Given the description of an element on the screen output the (x, y) to click on. 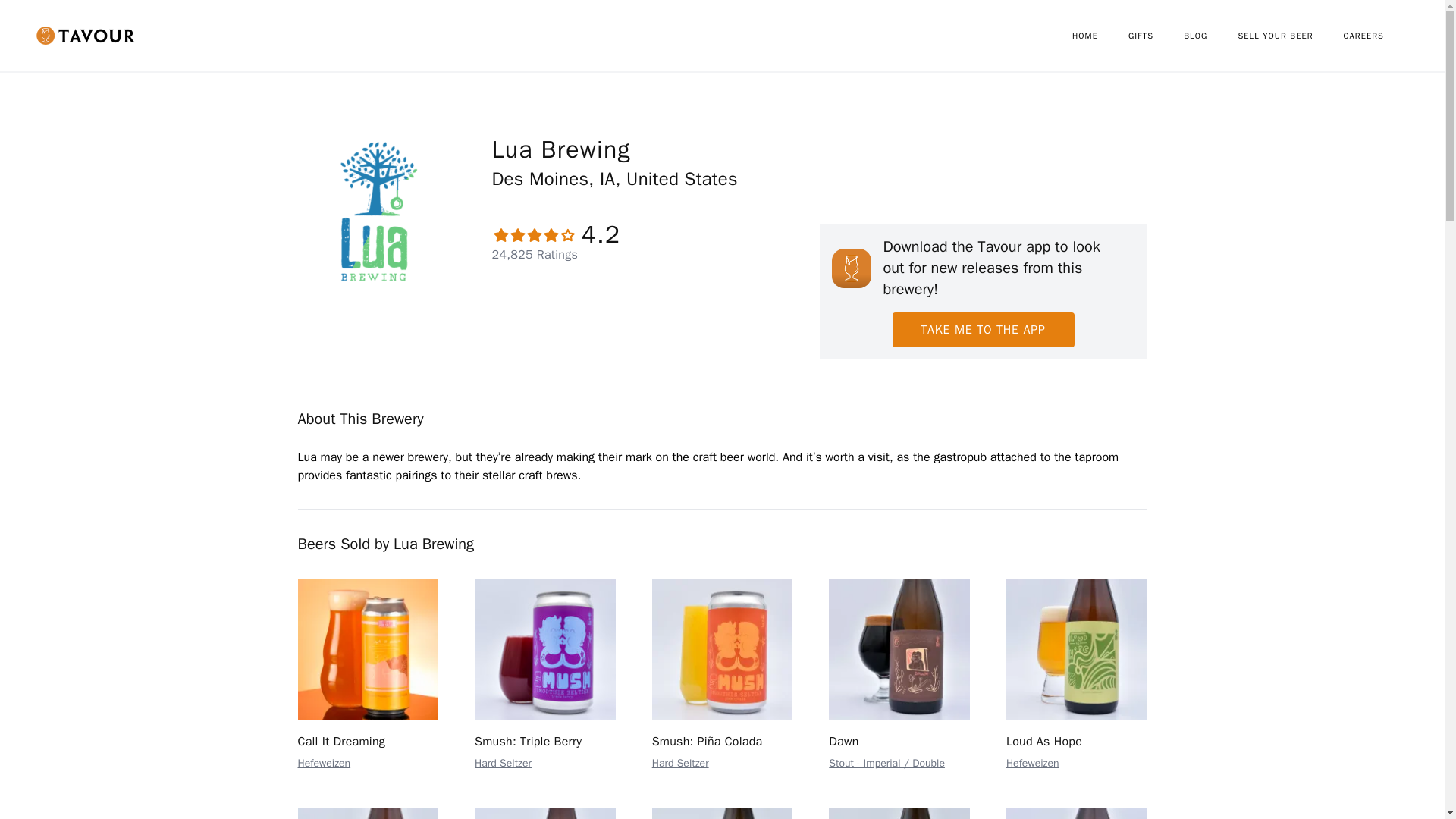
Immoderate (1076, 813)
CAREERS (1378, 35)
Hard Seltzer (502, 762)
Hefeweizen (323, 762)
Waking Up In the Sun (367, 813)
MIRE (722, 813)
TAKE ME TO THE APP (982, 329)
blog (1210, 35)
BLOG (1210, 35)
Soothsayer (544, 813)
Far (898, 813)
Hard Seltzer (680, 762)
careers (1378, 35)
Hefeweizen (1032, 762)
home (1099, 35)
